Given the description of an element on the screen output the (x, y) to click on. 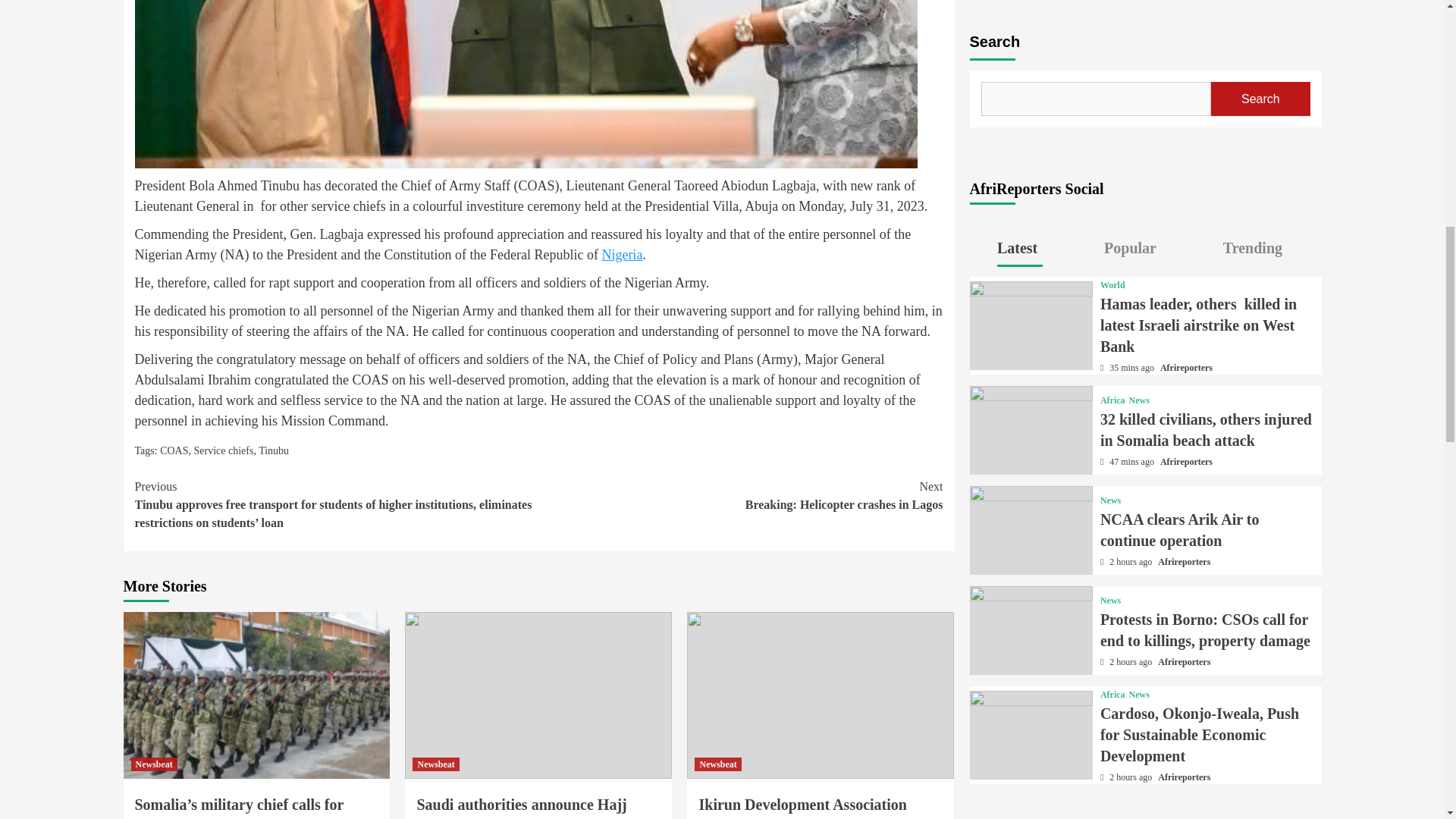
COAS (173, 450)
Nigeria (621, 254)
Newsbeat (717, 764)
Tinubu (273, 450)
Service chiefs (223, 450)
Newsbeat (740, 495)
Newsbeat (153, 764)
